Given the description of an element on the screen output the (x, y) to click on. 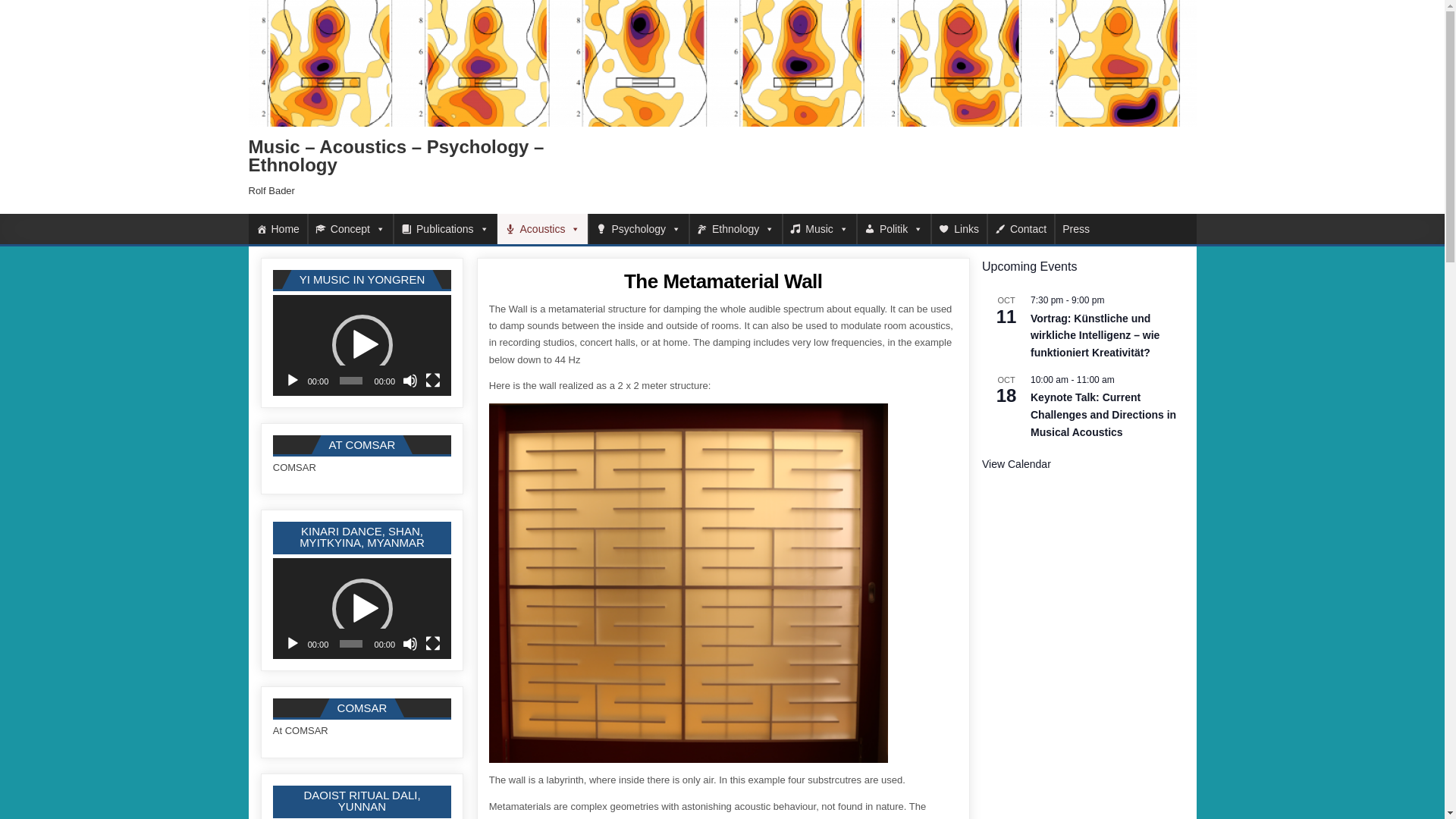
Mute (410, 643)
Publications (444, 228)
Mute (410, 380)
Fullscreen (433, 643)
Home (277, 228)
Ethnology (734, 228)
Play (292, 643)
Psychology (638, 228)
Acoustics (542, 228)
Play (292, 380)
